Given the description of an element on the screen output the (x, y) to click on. 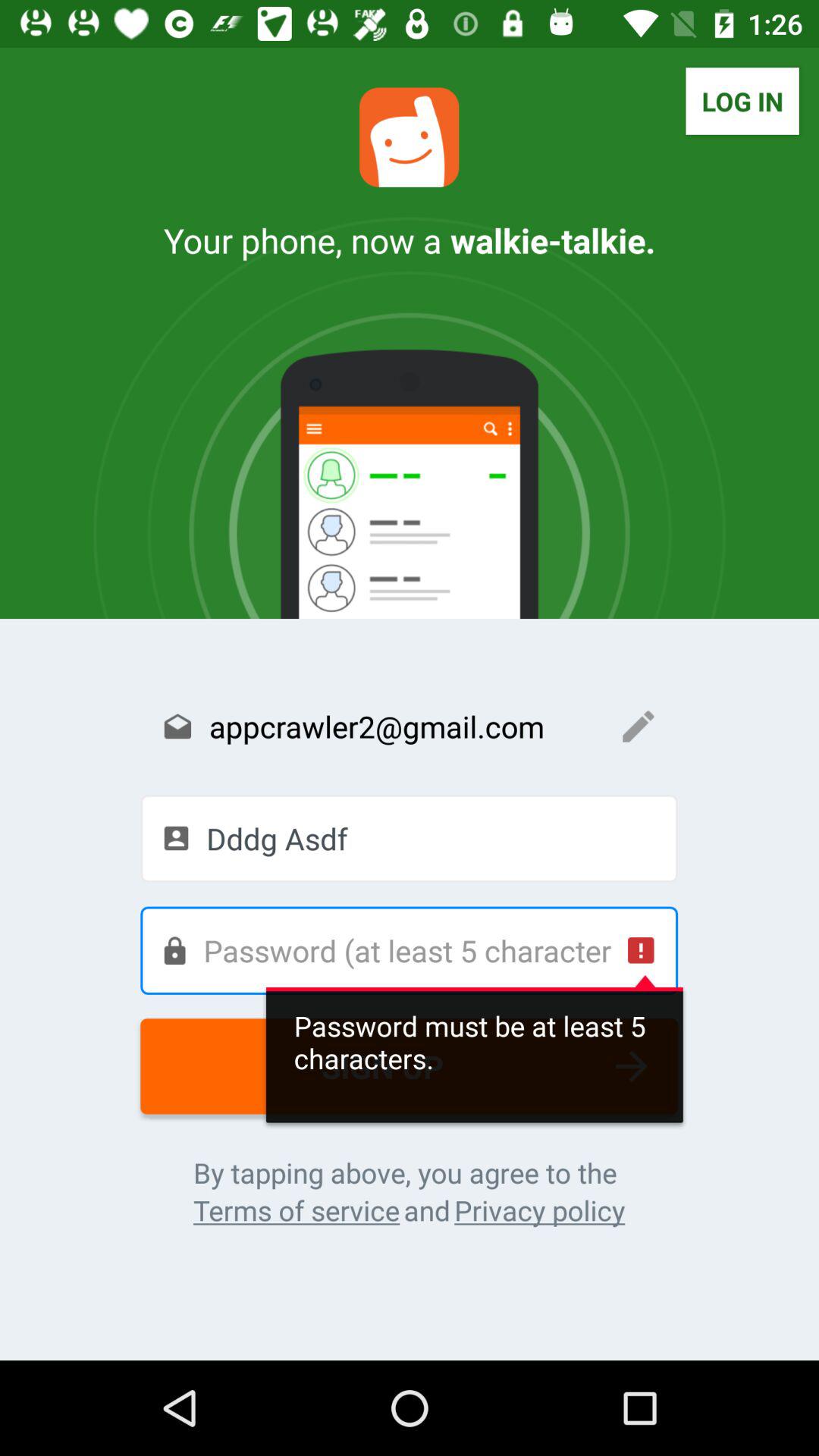
turn off the icon below the appcrawler2@gmail.com item (408, 838)
